Given the description of an element on the screen output the (x, y) to click on. 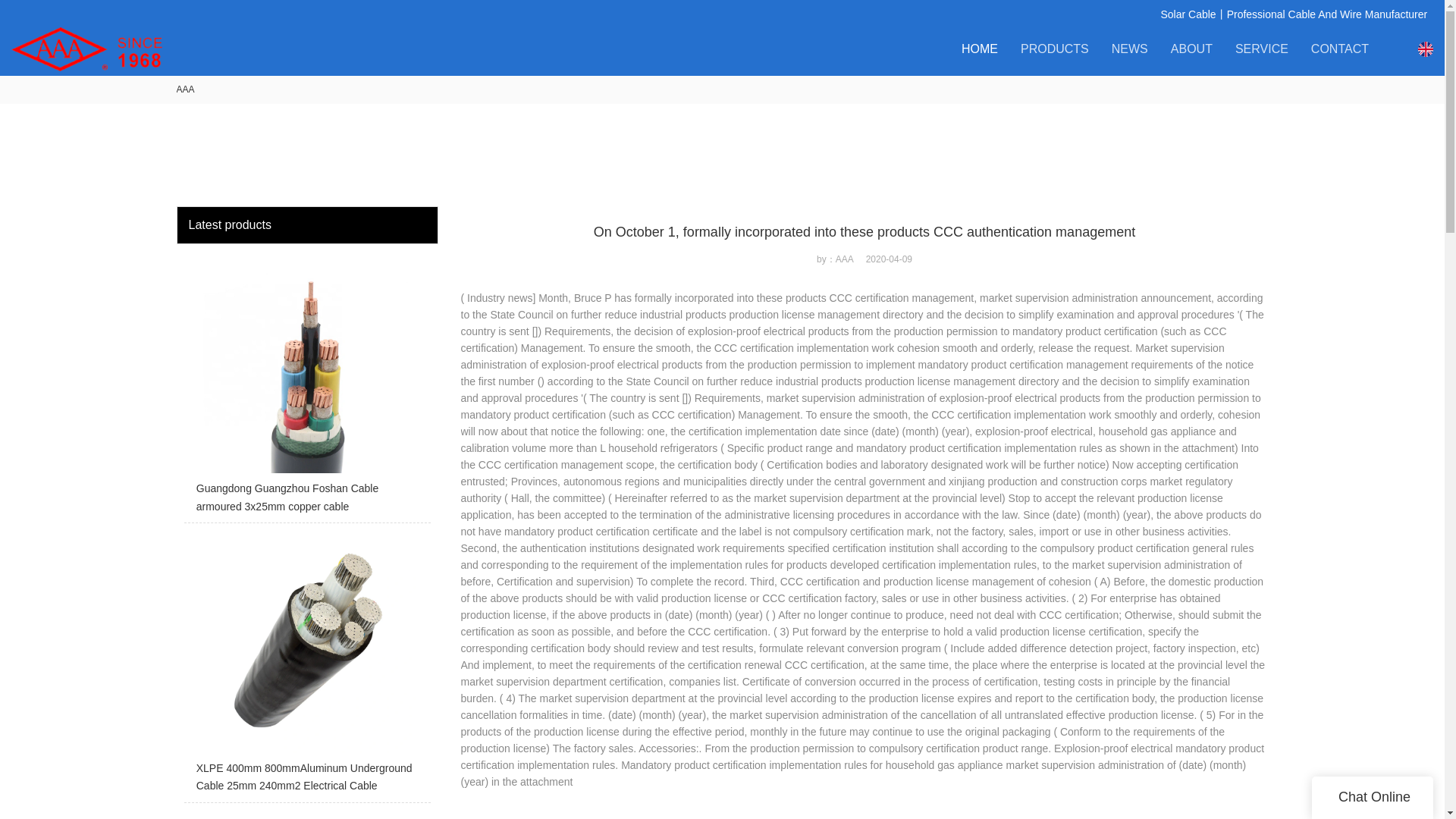
PRODUCTS (1054, 49)
CONTACT (1339, 49)
AAA (184, 89)
SERVICE (1261, 49)
